Given the description of an element on the screen output the (x, y) to click on. 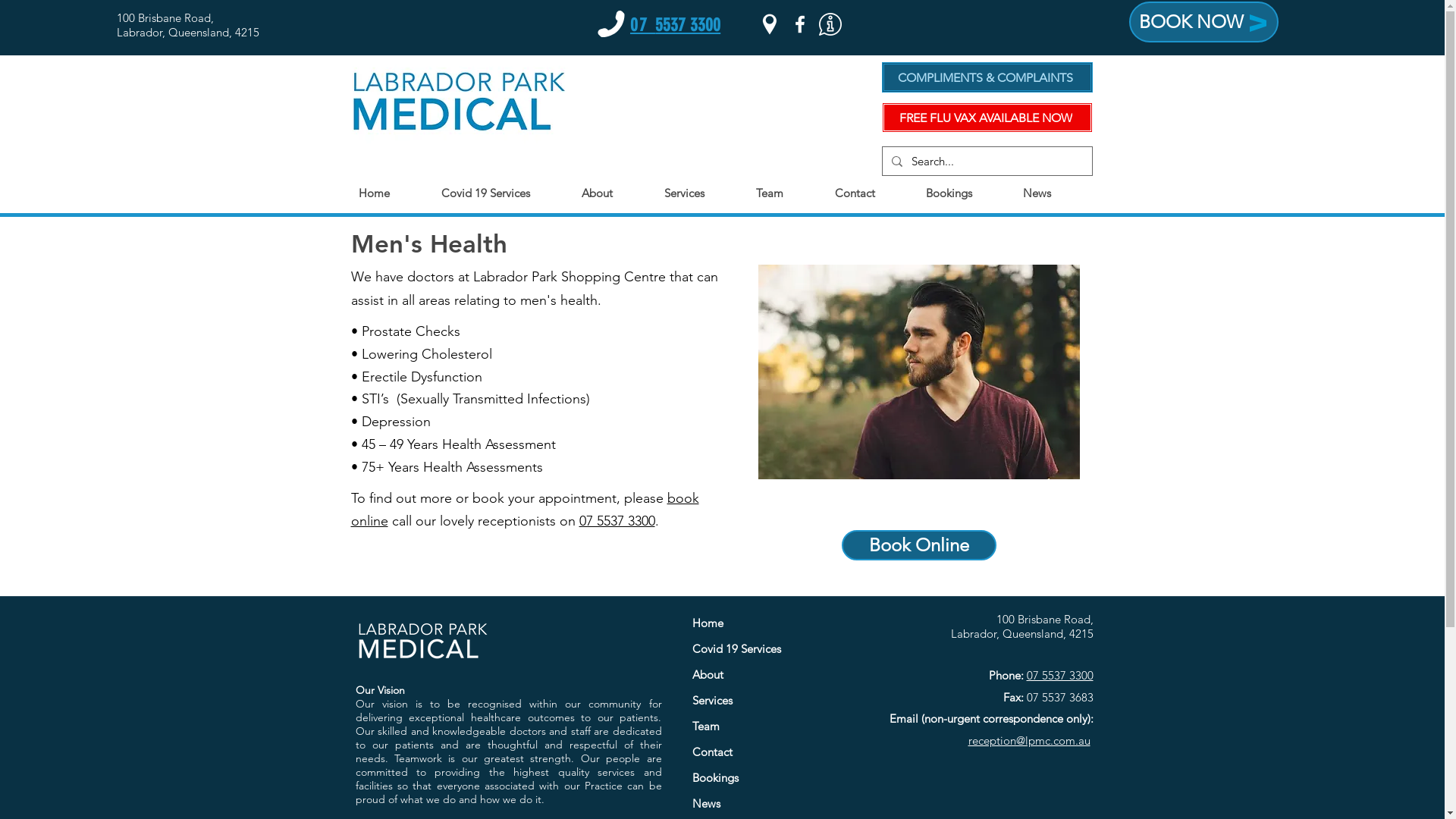
100 Brisbane Road, Element type: text (1044, 618)
Book Online Element type: text (918, 545)
Team Element type: text (765, 726)
News Element type: text (765, 803)
book online Element type: text (524, 509)
COMPLIMENTS & COMPLAINTS Element type: text (986, 77)
Services Element type: text (702, 193)
Covid 19 Services Element type: text (765, 649)
Labrador, Queensland, 4215 Element type: text (1021, 633)
Covid 19 Services Element type: text (503, 193)
07 5537 3300 Element type: text (617, 520)
Contact Element type: text (765, 752)
07 5537 3300 Element type: text (1059, 675)
Bookings Element type: text (765, 777)
News Element type: text (1053, 193)
BOOK NOW Element type: text (1203, 21)
07 5537 3300 Element type: text (675, 24)
Labrador, Queensland, 4215 Element type: text (187, 32)
Home Element type: text (391, 193)
Team Element type: text (786, 193)
Contact Element type: text (871, 193)
About Element type: text (765, 674)
Home Element type: text (765, 623)
100 Brisbane Road, Element type: text (164, 17)
About Element type: text (614, 193)
FREE FLU VAX AVAILABLE NOW Element type: text (986, 117)
Services Element type: text (765, 700)
reception@lpmc.com.au Element type: text (1028, 739)
Bookings Element type: text (965, 193)
